Given the description of an element on the screen output the (x, y) to click on. 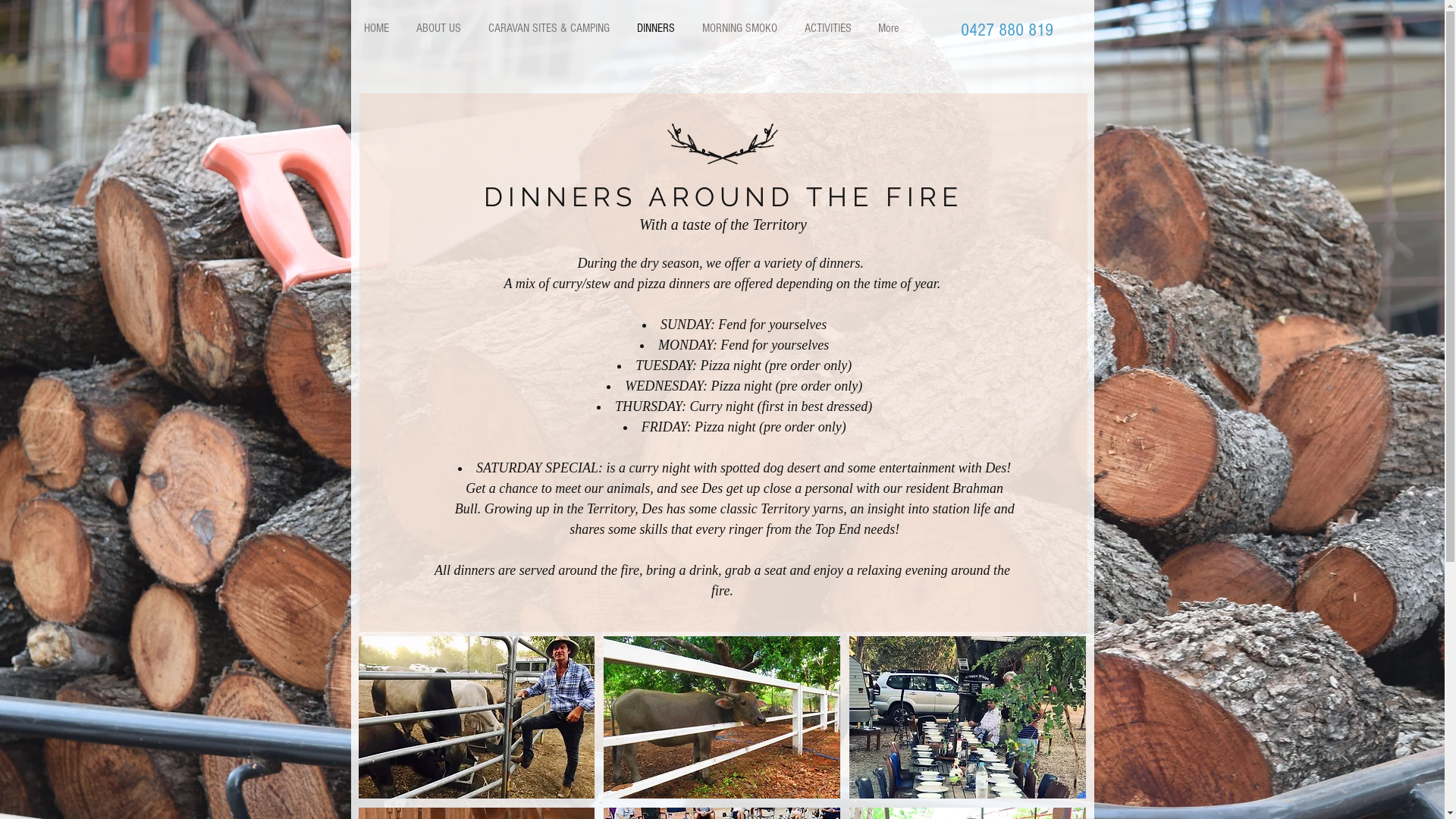
MORNING SMOKO Element type: text (739, 27)
ACTIVITIES Element type: text (826, 27)
ABOUT US Element type: text (437, 27)
CARAVAN SITES & CAMPING Element type: text (548, 27)
HOME Element type: text (375, 27)
DINNERS Element type: text (655, 27)
